Given the description of an element on the screen output the (x, y) to click on. 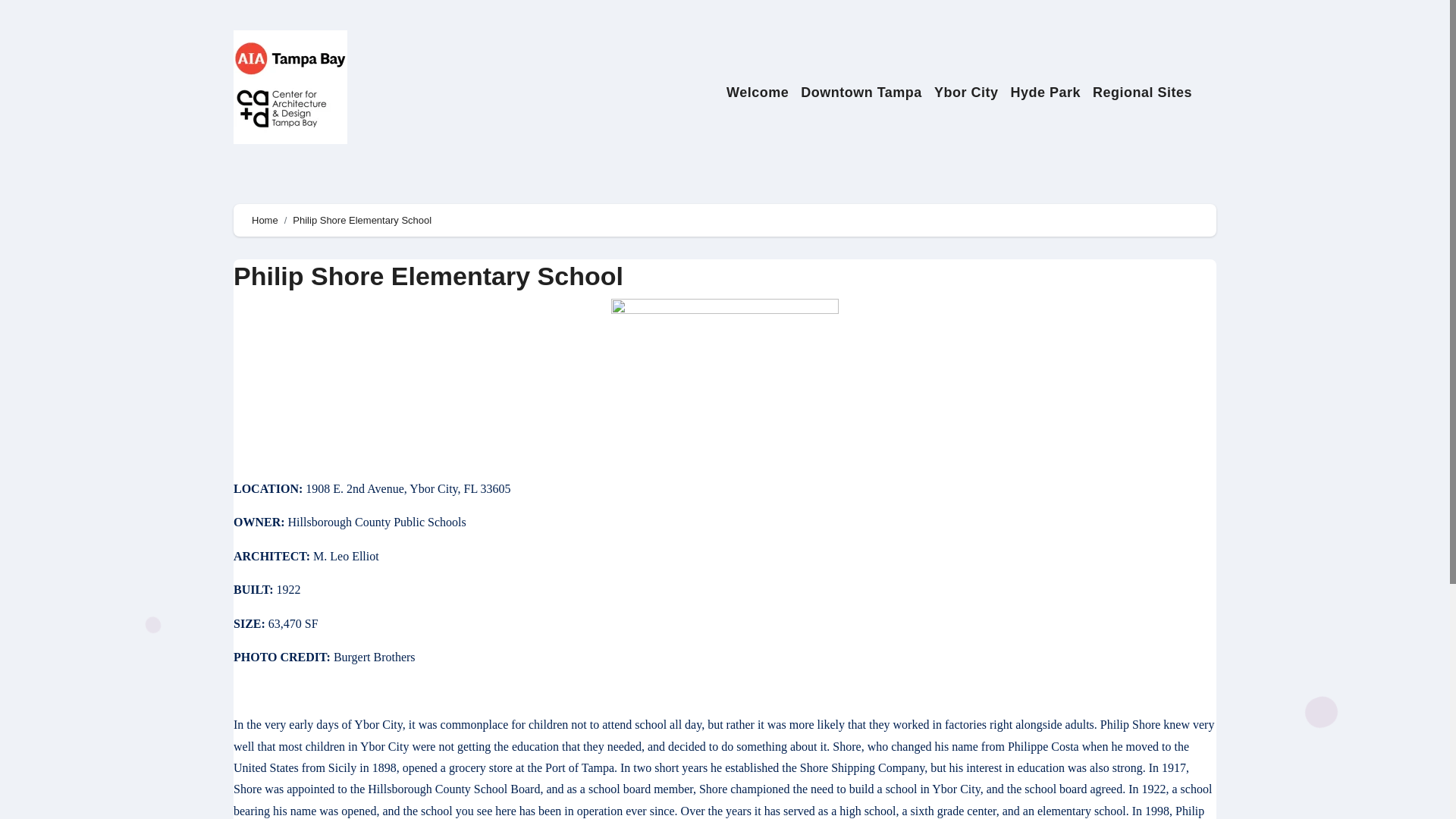
Welcome (757, 92)
Phil-Shore-Elementary (724, 371)
Hyde Park (1045, 92)
Ybor City (966, 92)
Ybor City (966, 92)
Downtown Tampa (861, 92)
Regional Sites (1142, 92)
Regional Sites (1142, 92)
Home (264, 220)
Hyde Park (1045, 92)
Welcome (757, 92)
Downtown Tampa (861, 92)
